Given the description of an element on the screen output the (x, y) to click on. 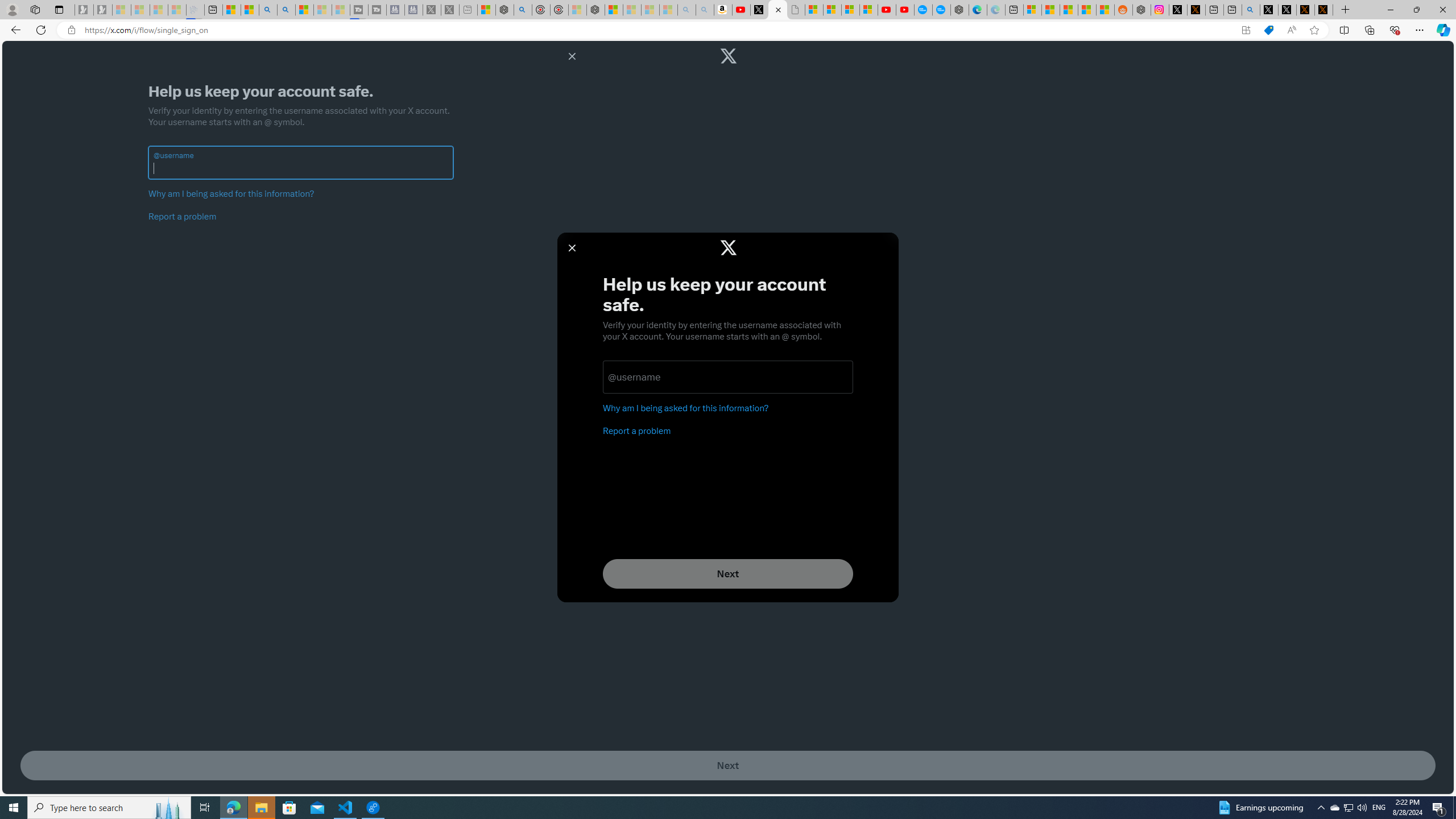
YouTube Kids - An App Created for Kids to Explore Content (904, 9)
Nordace - Nordace has arrived Hong Kong (960, 9)
